Given the description of an element on the screen output the (x, y) to click on. 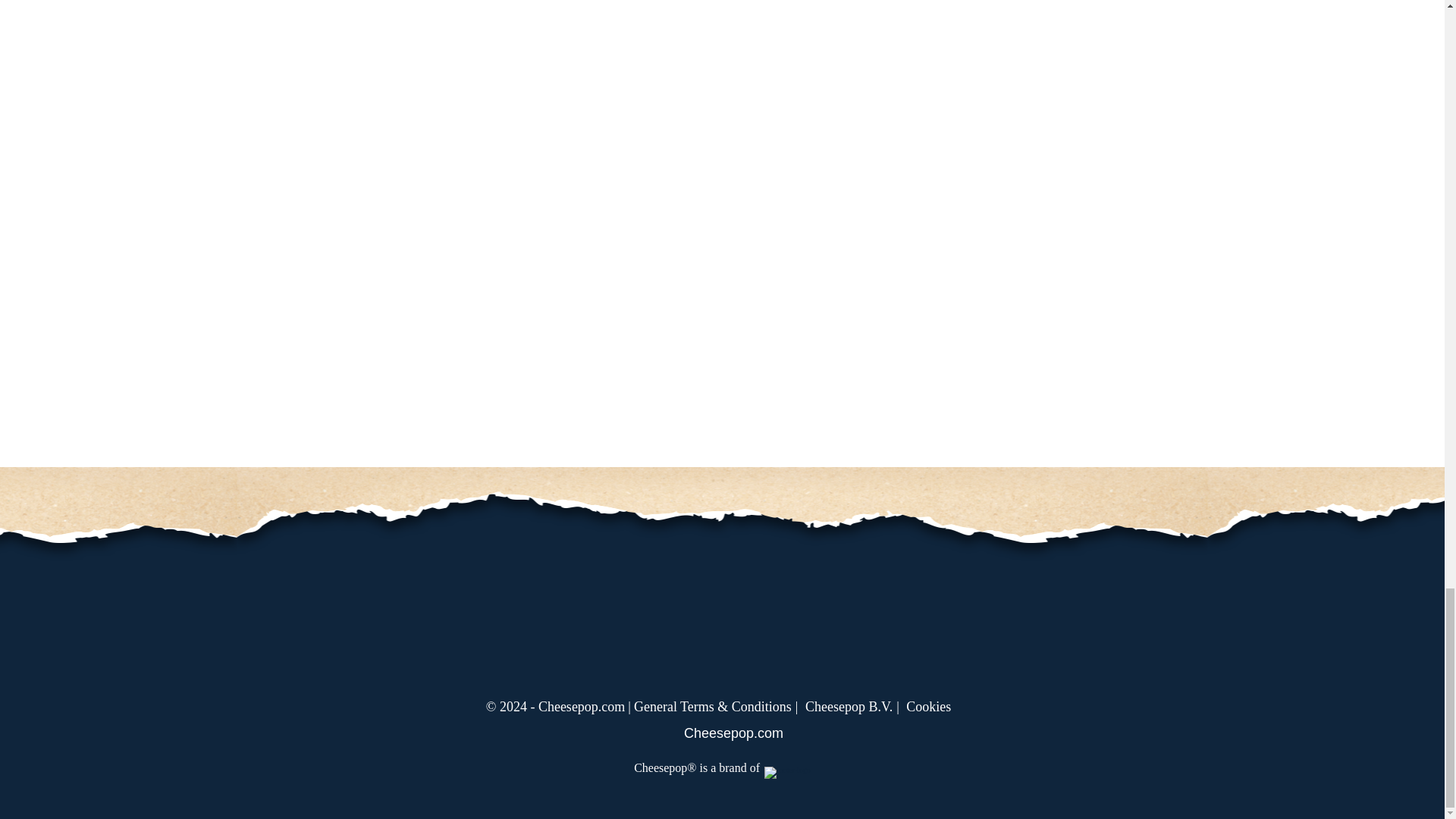
Cookies (931, 706)
Cheesepop.com (722, 732)
Cheesepop B.V. (853, 706)
